Given the description of an element on the screen output the (x, y) to click on. 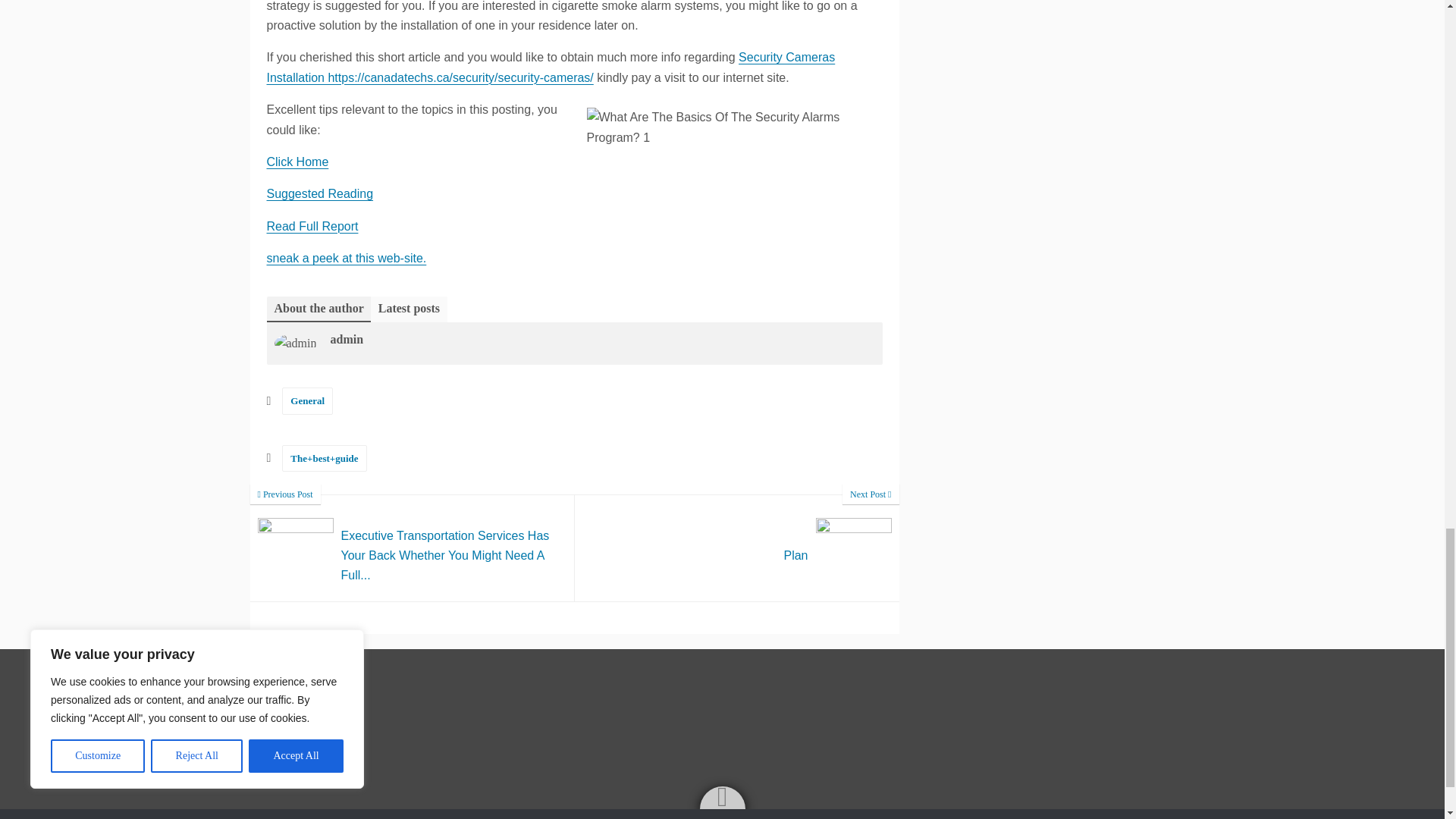
sneak a peek at this web-site. (346, 257)
General (307, 400)
Plan (737, 547)
Read Full Report (312, 226)
Suggested Reading (320, 193)
Click Home (737, 547)
